Given the description of an element on the screen output the (x, y) to click on. 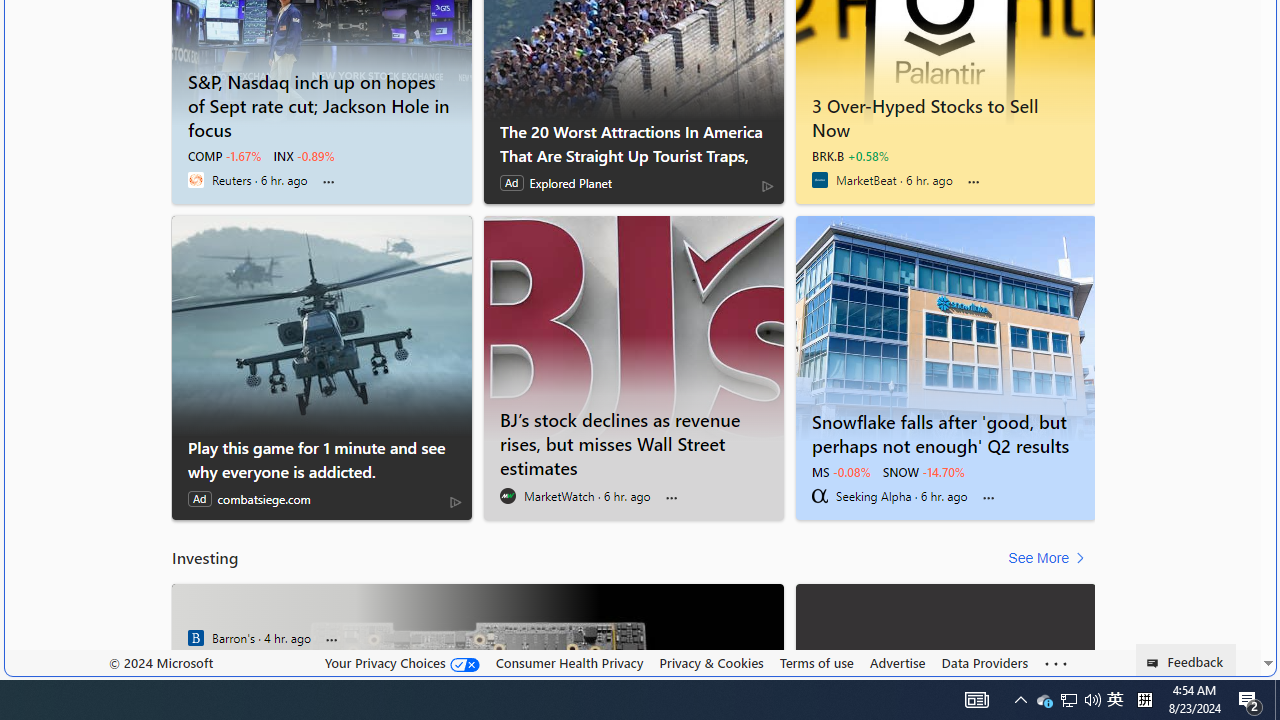
Data Providers (983, 663)
3 Over-Hyped Stocks to Sell Now - MarketBeat (945, 114)
MS -0.08% (840, 471)
AdChoices (456, 502)
SNOW -14.70% (923, 471)
See More (1049, 557)
MarketWatch (507, 495)
Your Privacy Choices (401, 662)
